Given the description of an element on the screen output the (x, y) to click on. 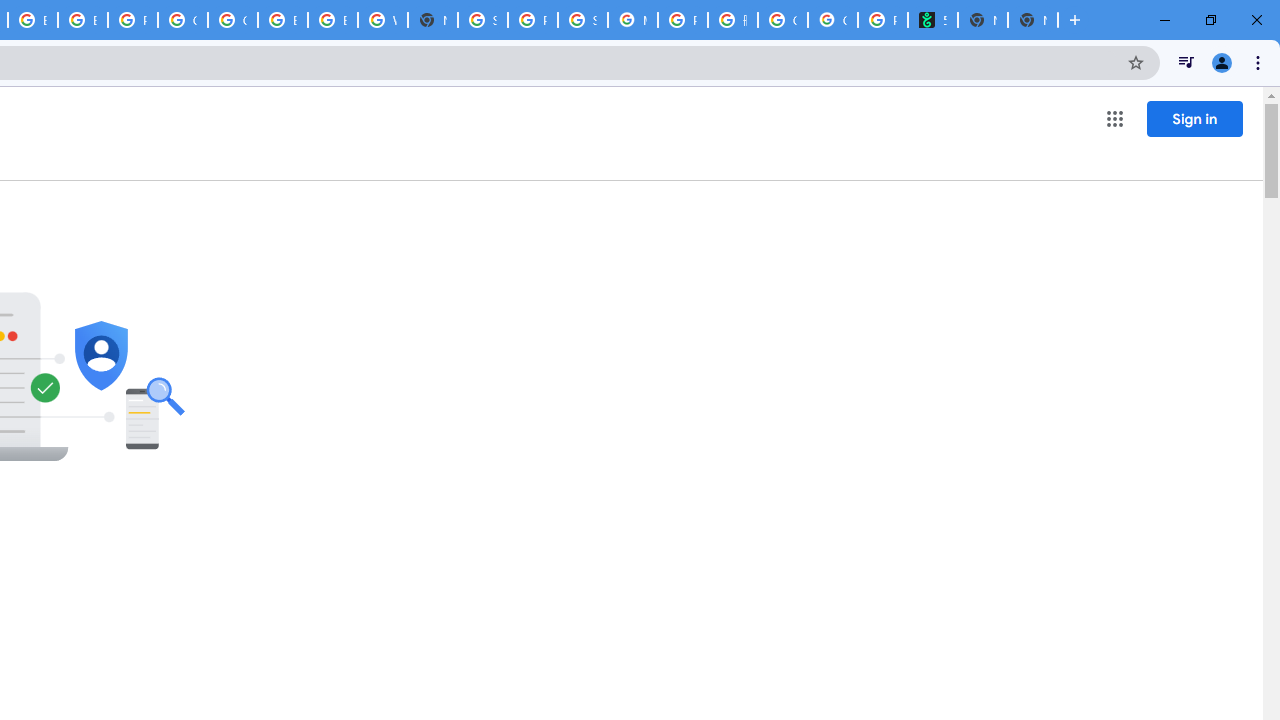
Browse Chrome as a guest - Computer - Google Chrome Help (283, 20)
Google Cloud Platform (182, 20)
Browse Chrome as a guest - Computer - Google Chrome Help (82, 20)
New Tab (1032, 20)
